Given the description of an element on the screen output the (x, y) to click on. 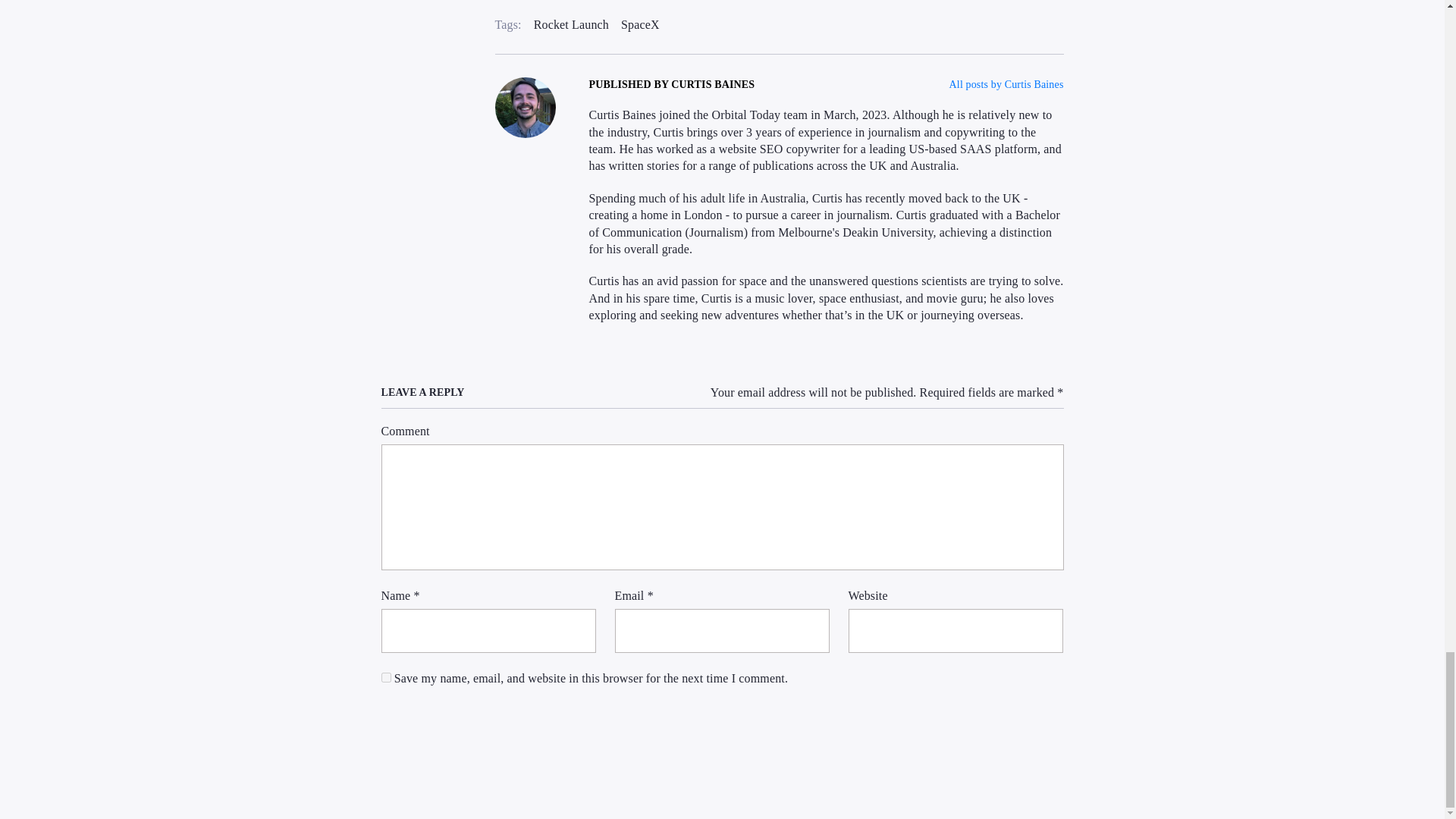
yes (385, 677)
